Given the description of an element on the screen output the (x, y) to click on. 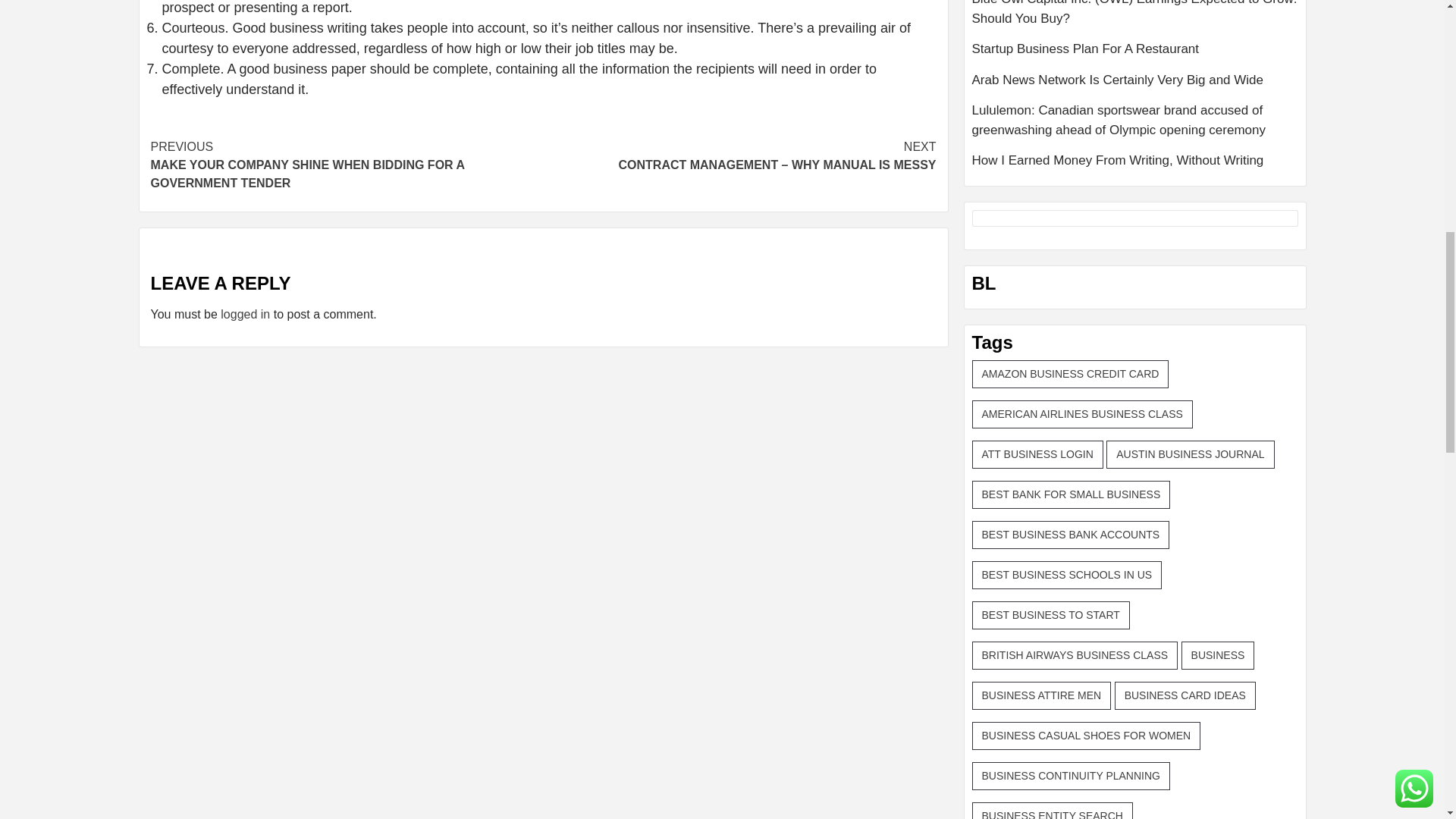
logged in (245, 314)
